Given the description of an element on the screen output the (x, y) to click on. 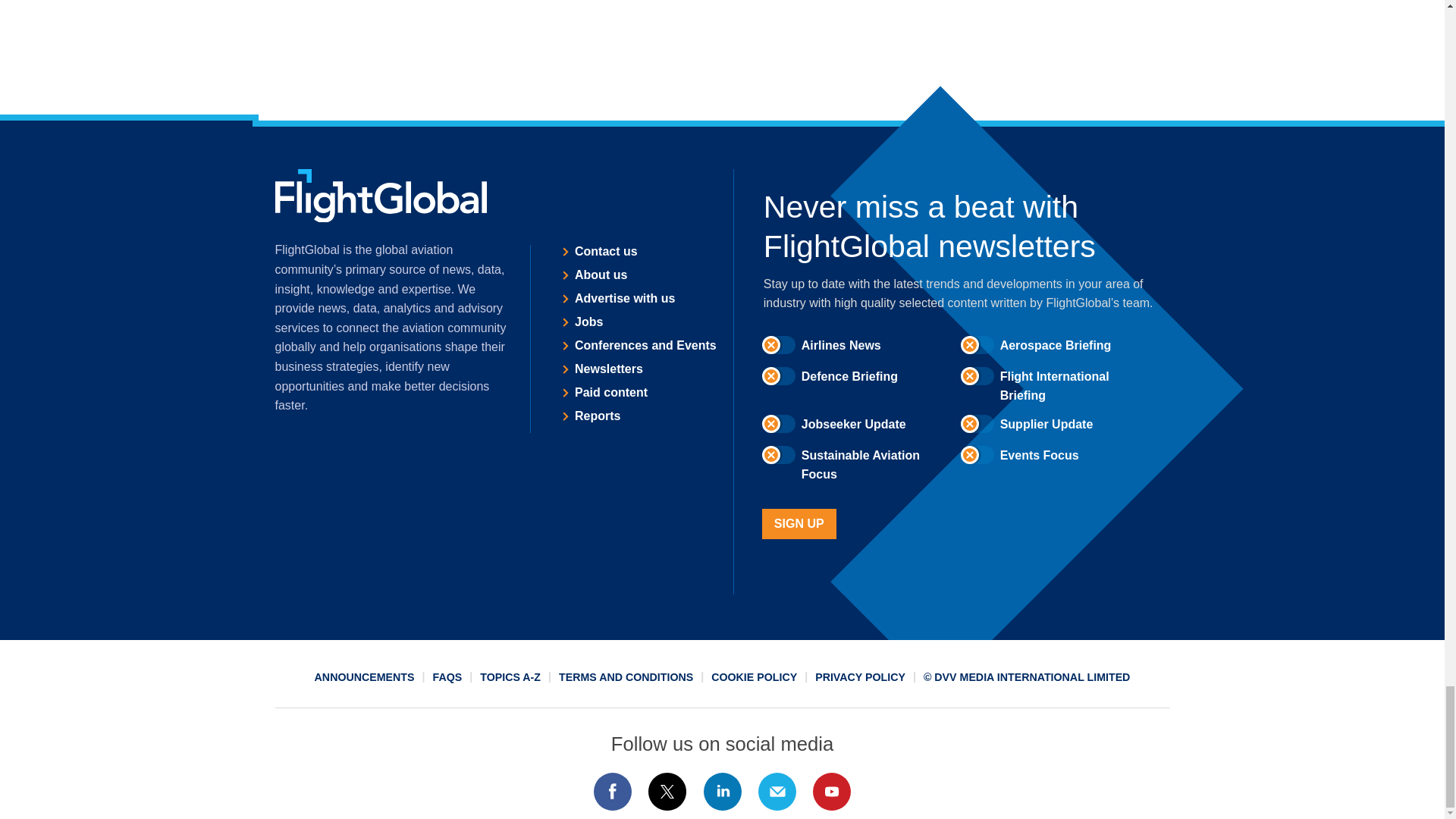
Connect with us on Youtube (831, 791)
Email us (776, 791)
Connect with us on Facebook (611, 791)
Connect with us on Linked In (721, 791)
Connect with us on Twitter (667, 791)
